Given the description of an element on the screen output the (x, y) to click on. 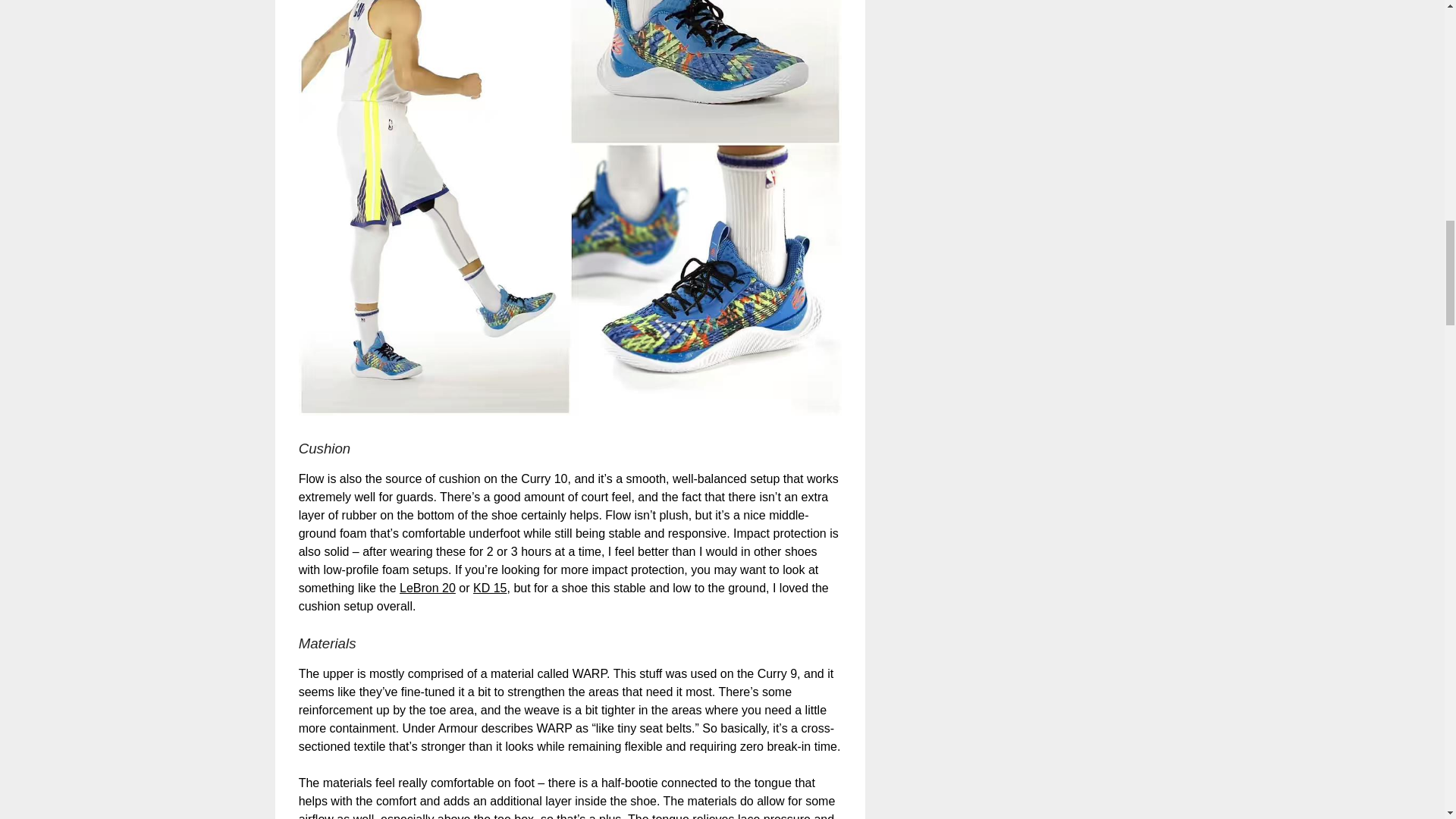
LeBron 20 (426, 587)
KD 15 (489, 587)
